Given the description of an element on the screen output the (x, y) to click on. 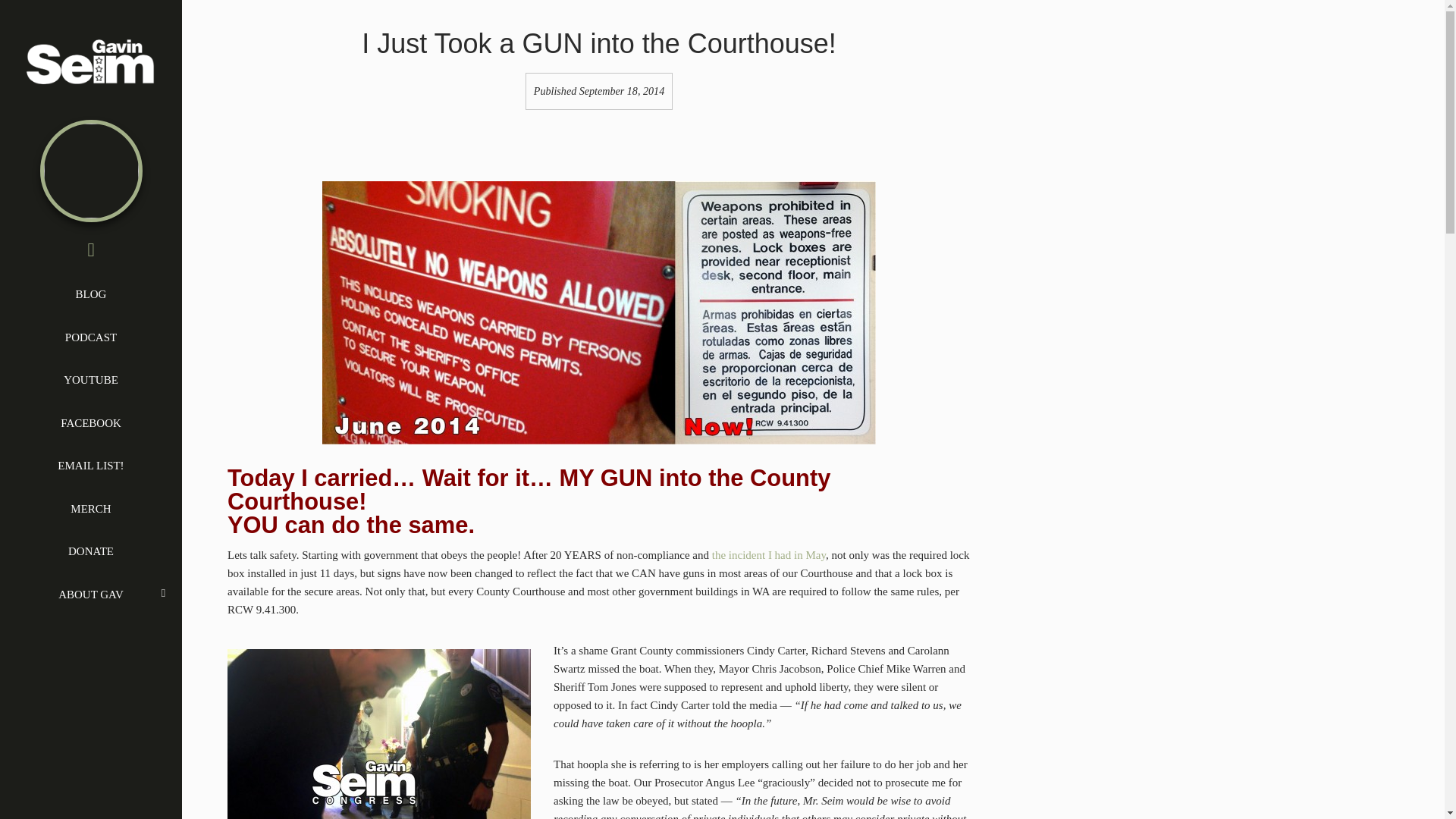
ABOUT GAV (91, 594)
EMAIL LIST! (91, 465)
PODCAST (91, 337)
BLOG (91, 293)
the incident I had in May (768, 554)
MERCH (91, 508)
YOUTUBE (91, 379)
FACEBOOK (91, 423)
DONATE (91, 550)
